Given the description of an element on the screen output the (x, y) to click on. 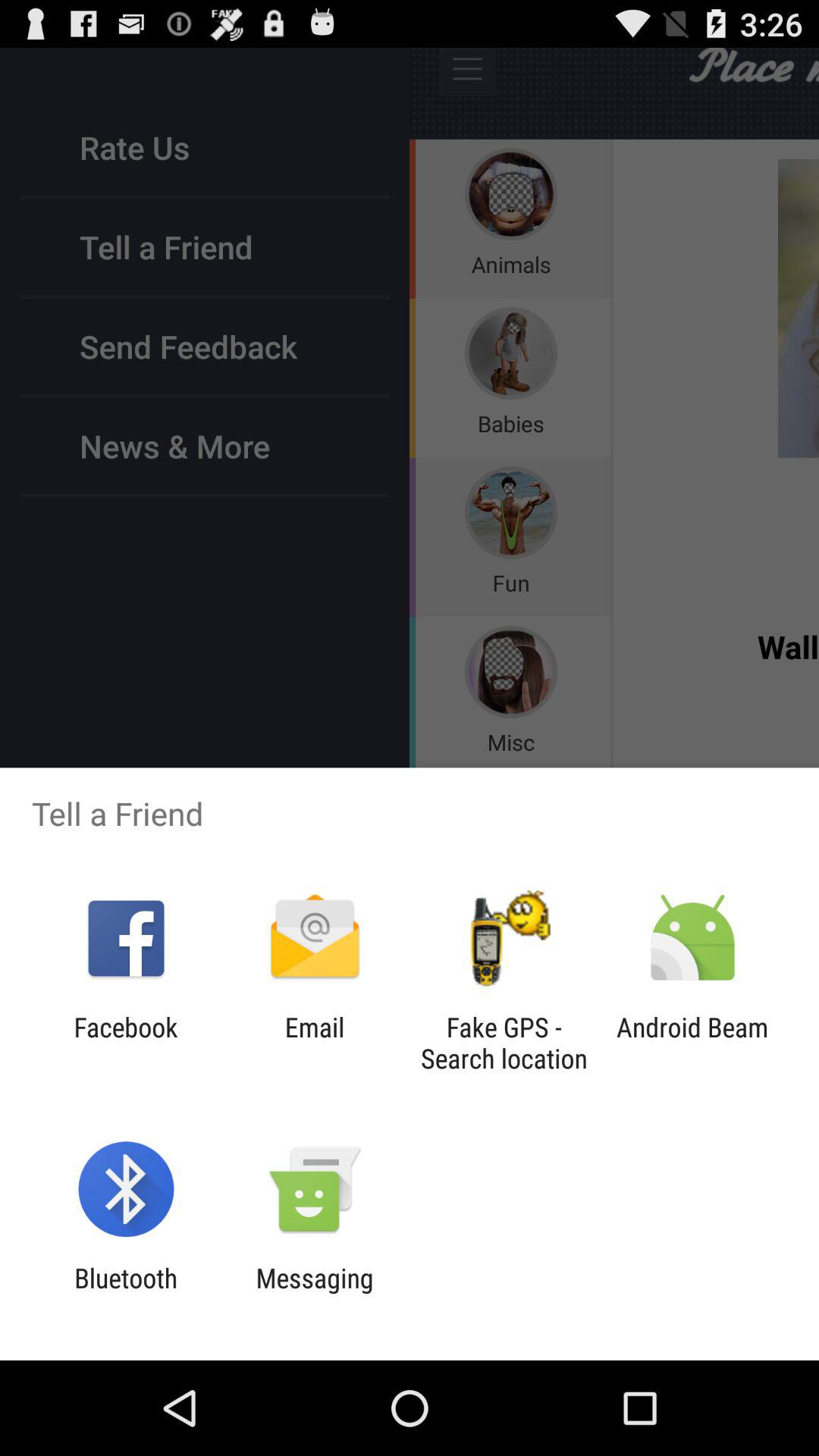
open item to the left of the email icon (125, 1042)
